Given the description of an element on the screen output the (x, y) to click on. 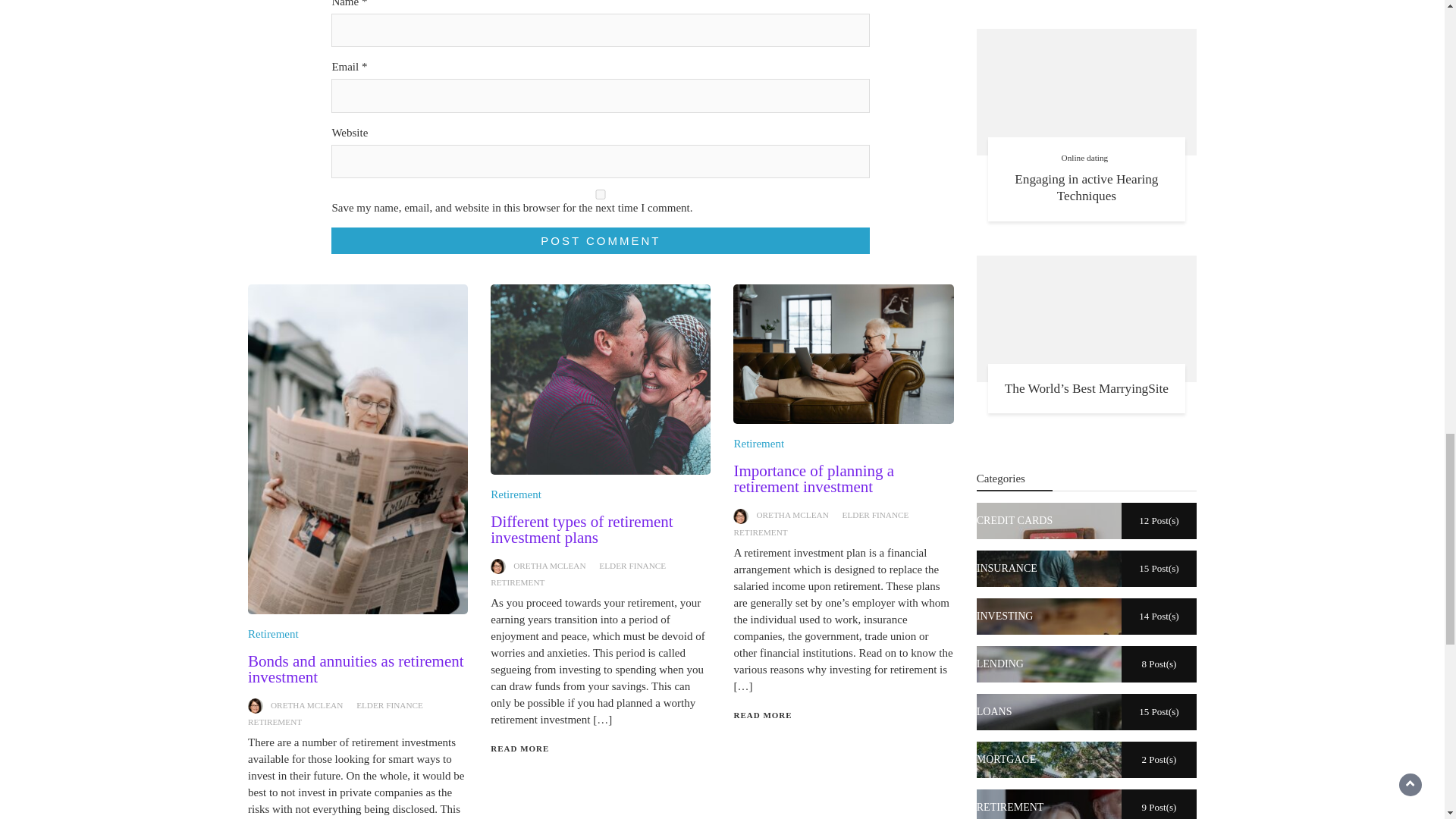
Post Comment (600, 240)
READ MORE (519, 747)
Retirement (758, 443)
RETIREMENT (274, 721)
ELDER FINANCE (631, 565)
Bonds and annuities as retirement investment (355, 668)
ORETHA MCLEAN (549, 565)
yes (600, 194)
ELDER FINANCE (389, 705)
Post Comment (600, 240)
